Given the description of an element on the screen output the (x, y) to click on. 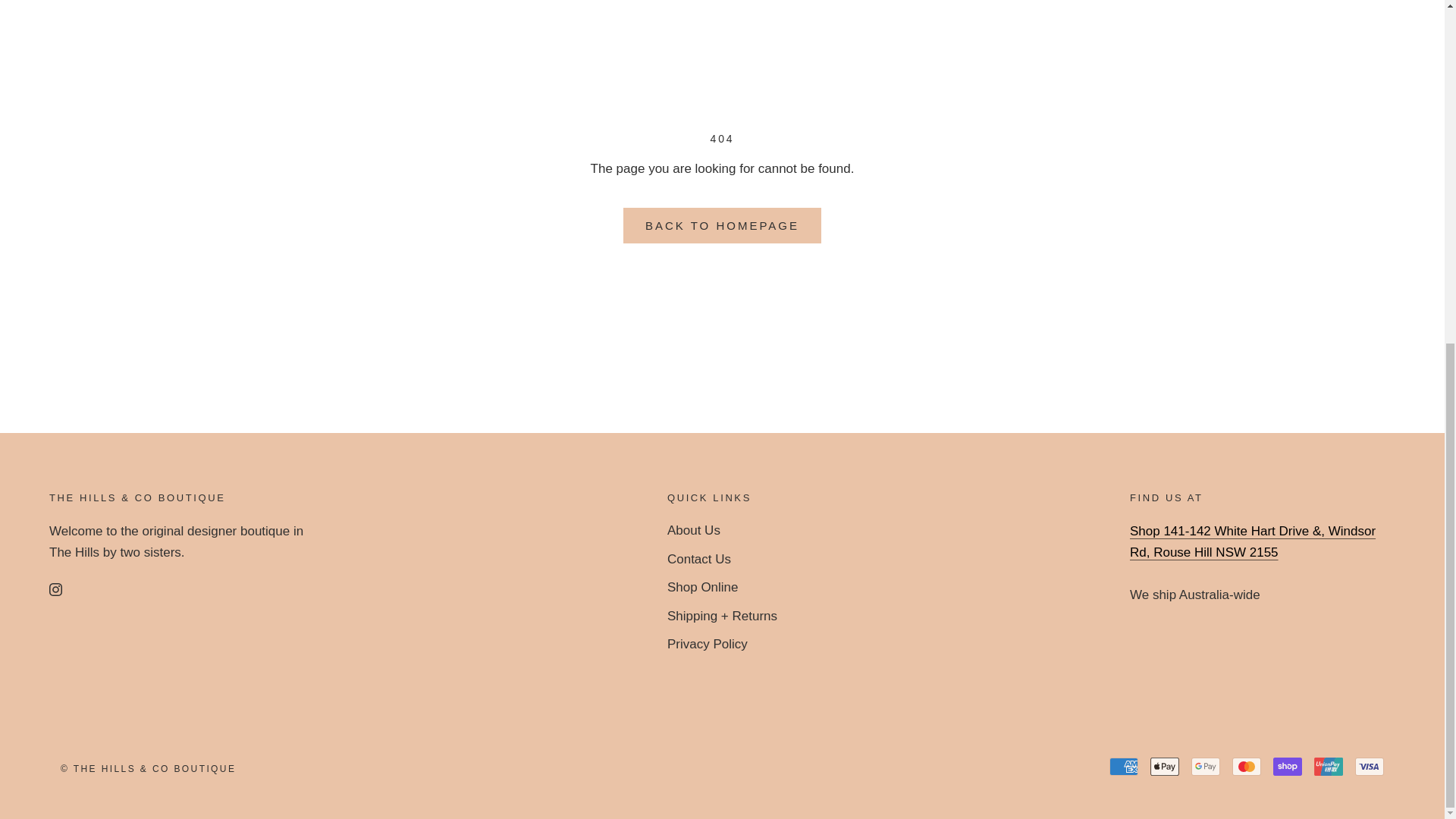
Google Pay (1205, 766)
American Express (1123, 766)
Shop Pay (1286, 766)
Mastercard (1245, 766)
Apple Pay (1164, 766)
Visa (1369, 766)
Union Pay (1328, 766)
